Given the description of an element on the screen output the (x, y) to click on. 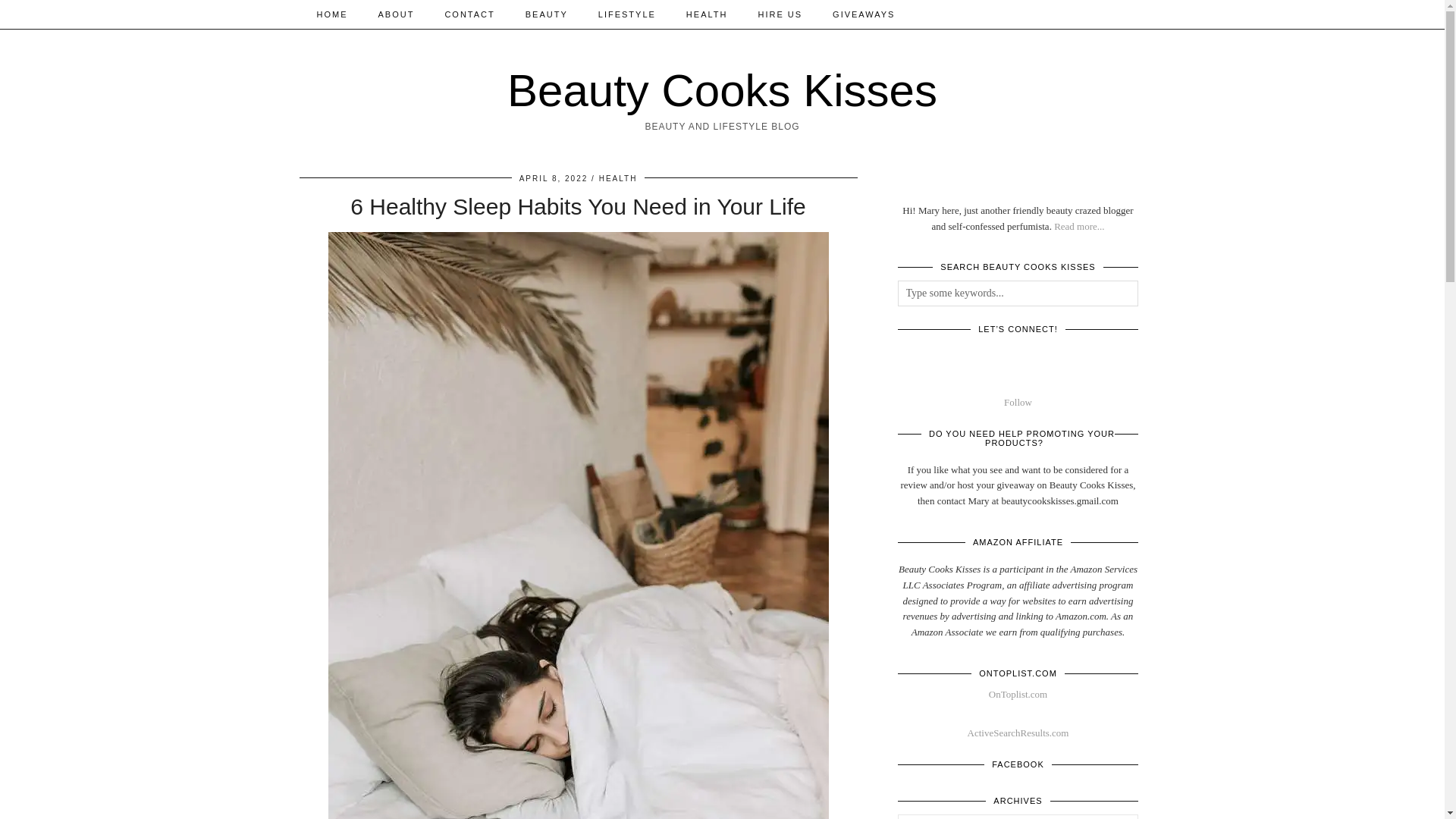
HOME (331, 14)
ABOUT (395, 14)
HEALTH (706, 14)
Beauty Cooks Kisses (721, 90)
GIVEAWAYS (863, 14)
CONTACT (469, 14)
LIFESTYLE (627, 14)
HIRE US (779, 14)
Beauty Cooks Kisses (721, 90)
BEAUTY (547, 14)
